Given the description of an element on the screen output the (x, y) to click on. 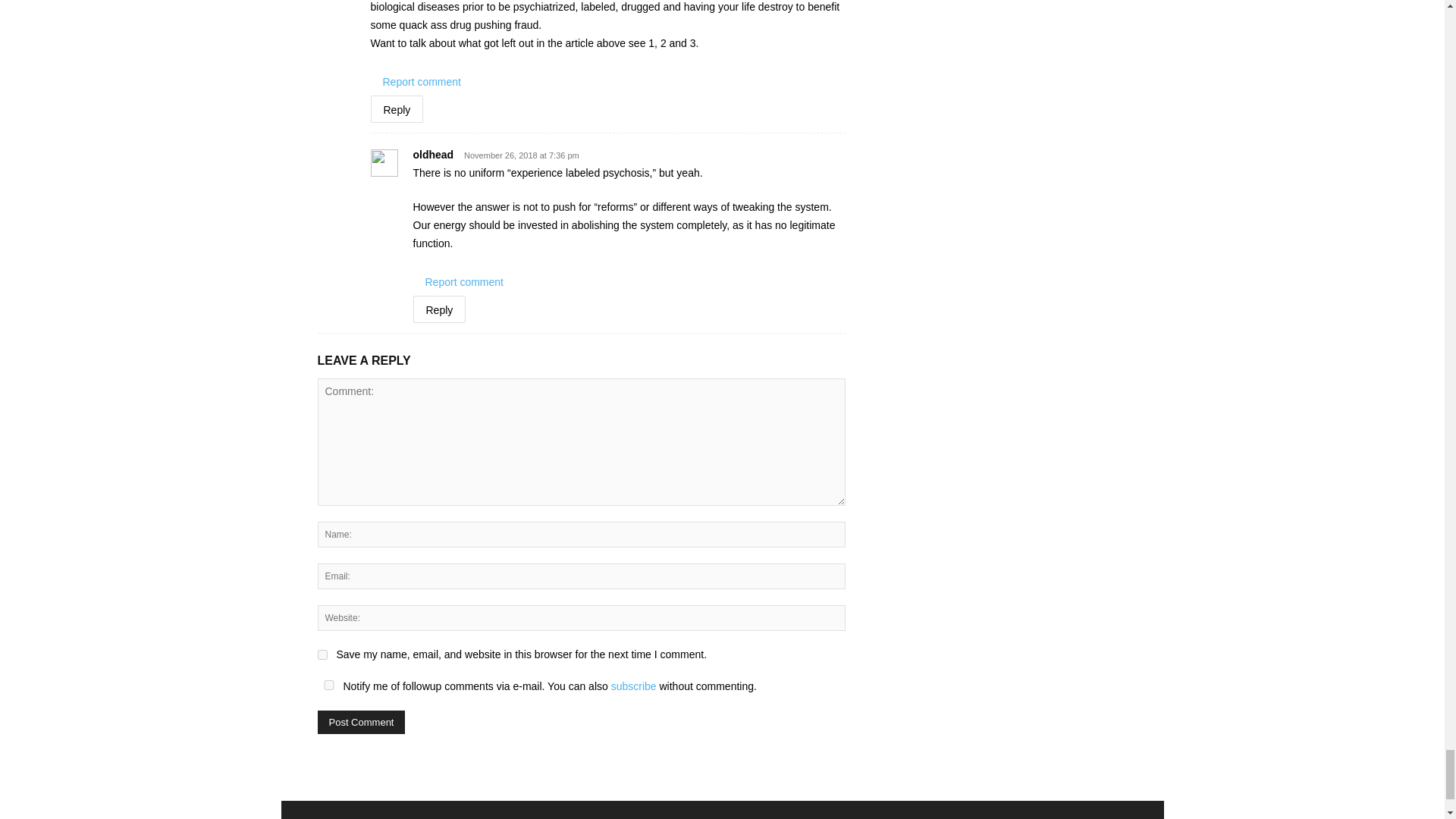
yes (328, 685)
yes (321, 655)
Post Comment (360, 721)
